Given the description of an element on the screen output the (x, y) to click on. 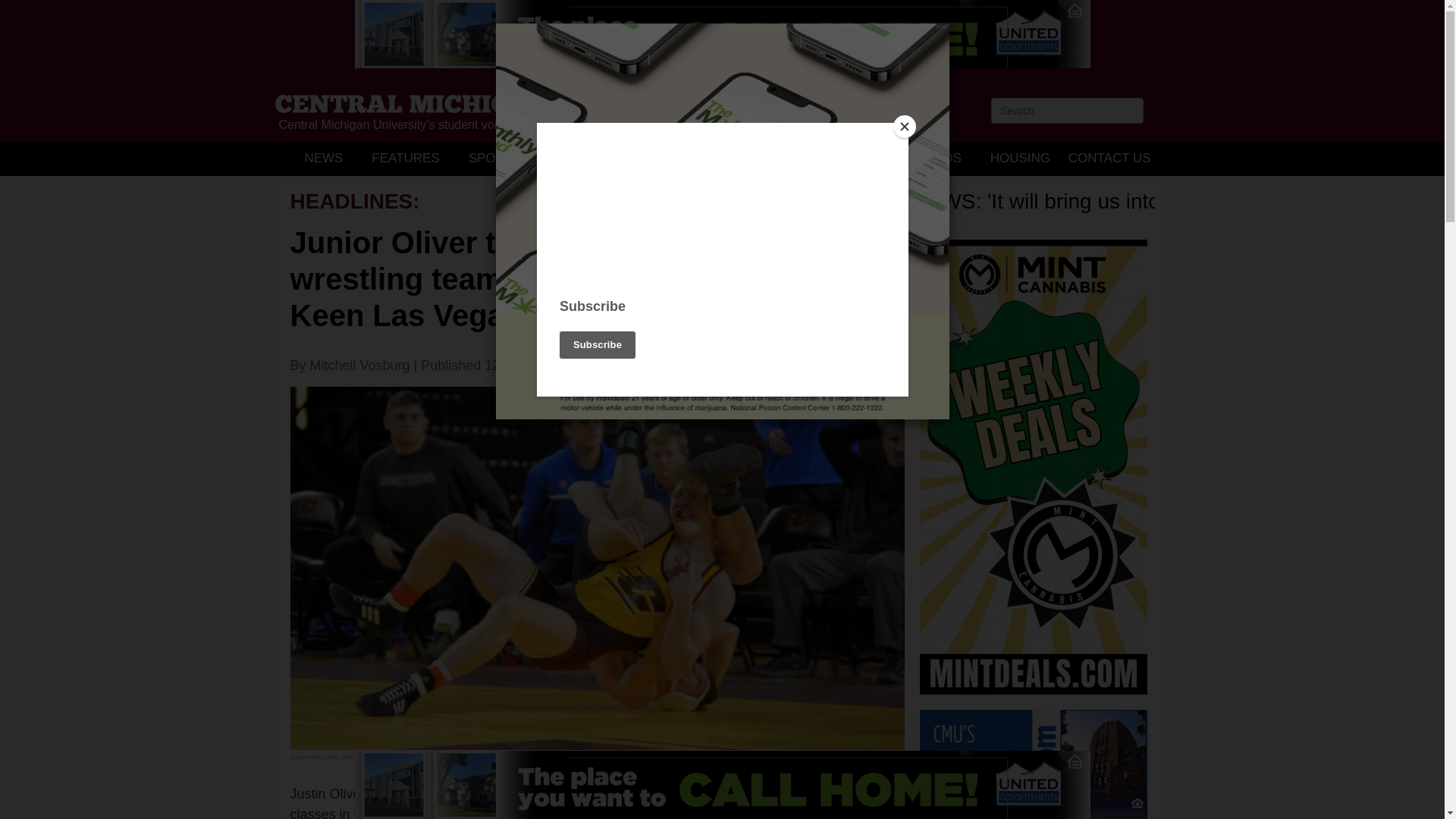
ENTERTAINMENT (686, 158)
FEATURES (404, 158)
CMUApts.com (722, 785)
OPINION (576, 158)
NEWS (322, 158)
MULTIMEDIA (809, 158)
CMUApts.com (1032, 764)
SPORTS (494, 158)
HOUSING (1019, 158)
CONTACT US (1109, 158)
CMUApts.com (722, 33)
CLASSIFIEDS (919, 158)
